Given the description of an element on the screen output the (x, y) to click on. 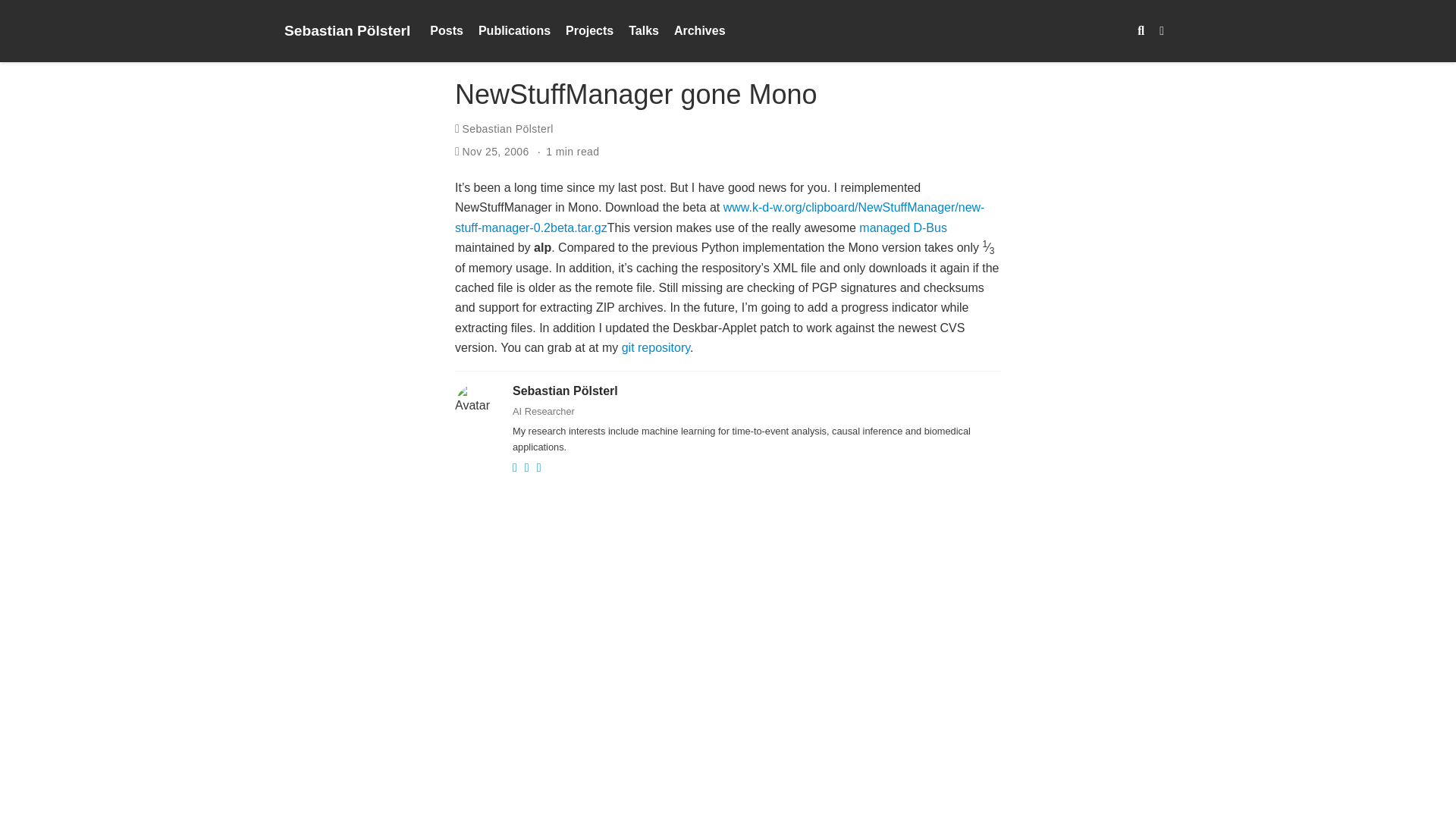
managed D-Bus (903, 227)
Publications (513, 31)
Archives (699, 31)
git repository (655, 347)
Projects (589, 31)
